Given the description of an element on the screen output the (x, y) to click on. 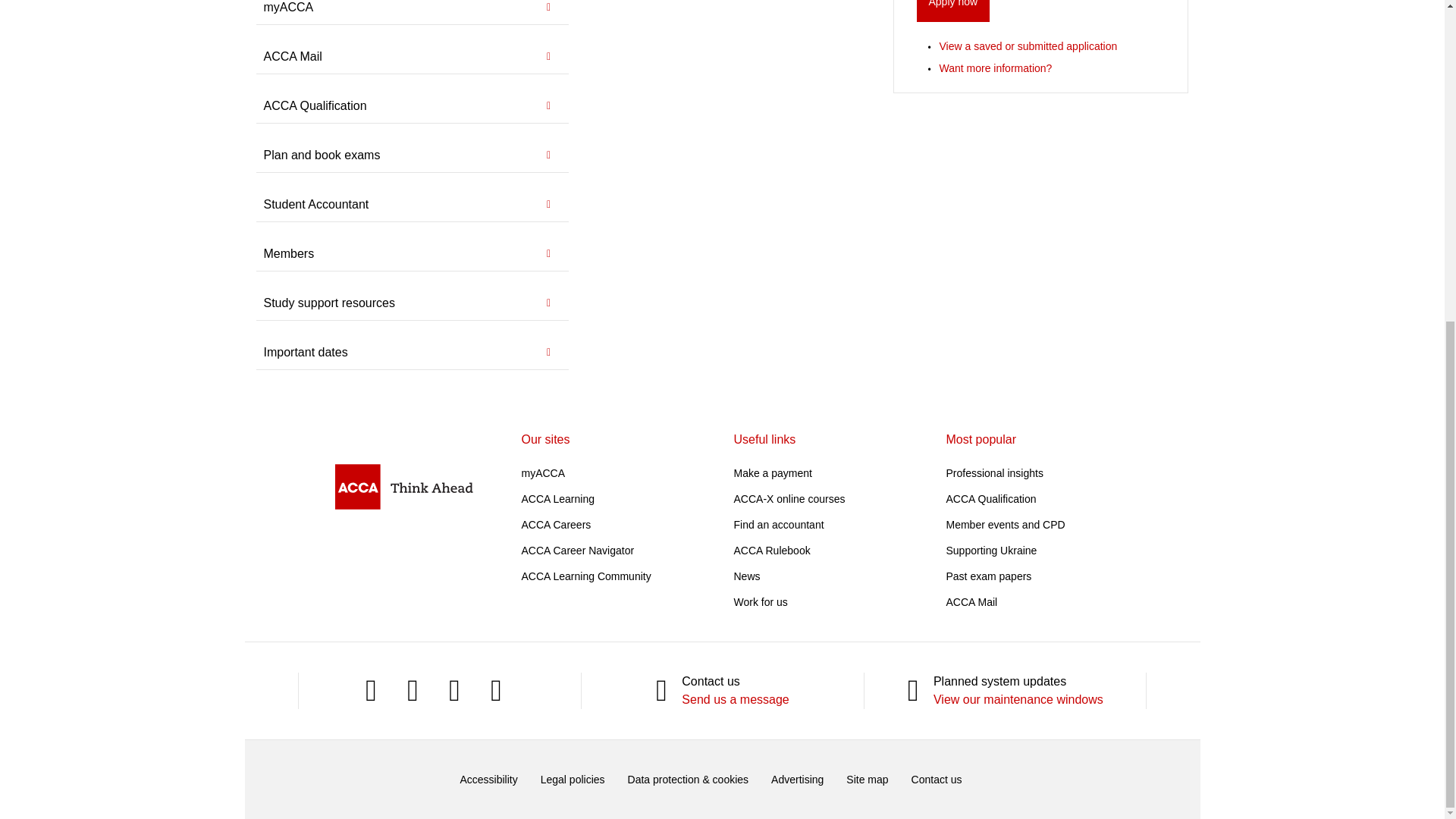
News (746, 576)
ACCA-X online courses (789, 499)
Member events and CPD (1005, 524)
ACCA Rulebook (771, 550)
ACCA Qualification (991, 499)
ACCA Career Navigator (577, 550)
Home Link (403, 486)
Work for us (760, 602)
Make a payment (772, 472)
View a saved or submitted application (1027, 46)
